Given the description of an element on the screen output the (x, y) to click on. 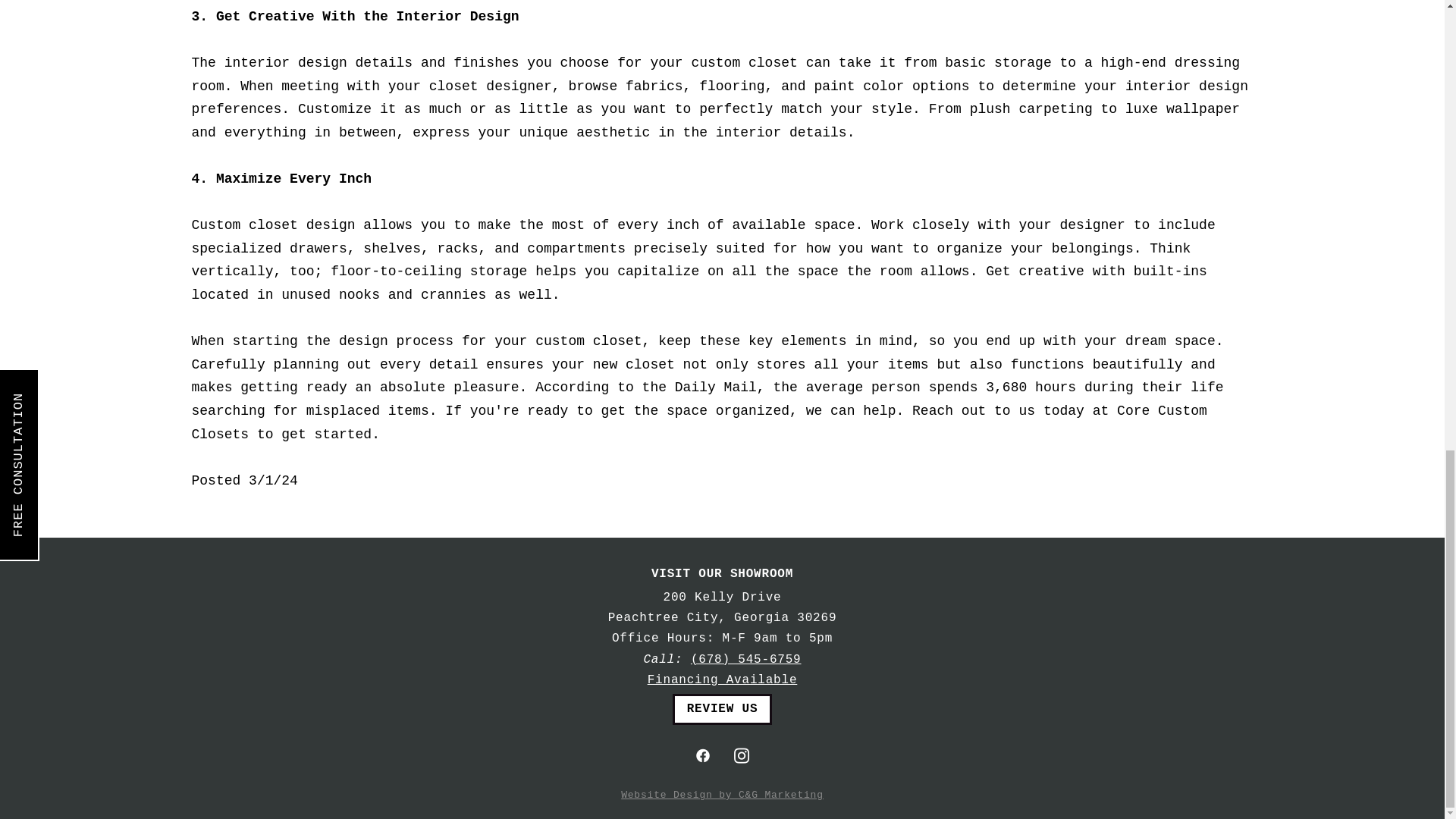
Financing Available (722, 680)
REVIEW US (722, 708)
